Given the description of an element on the screen output the (x, y) to click on. 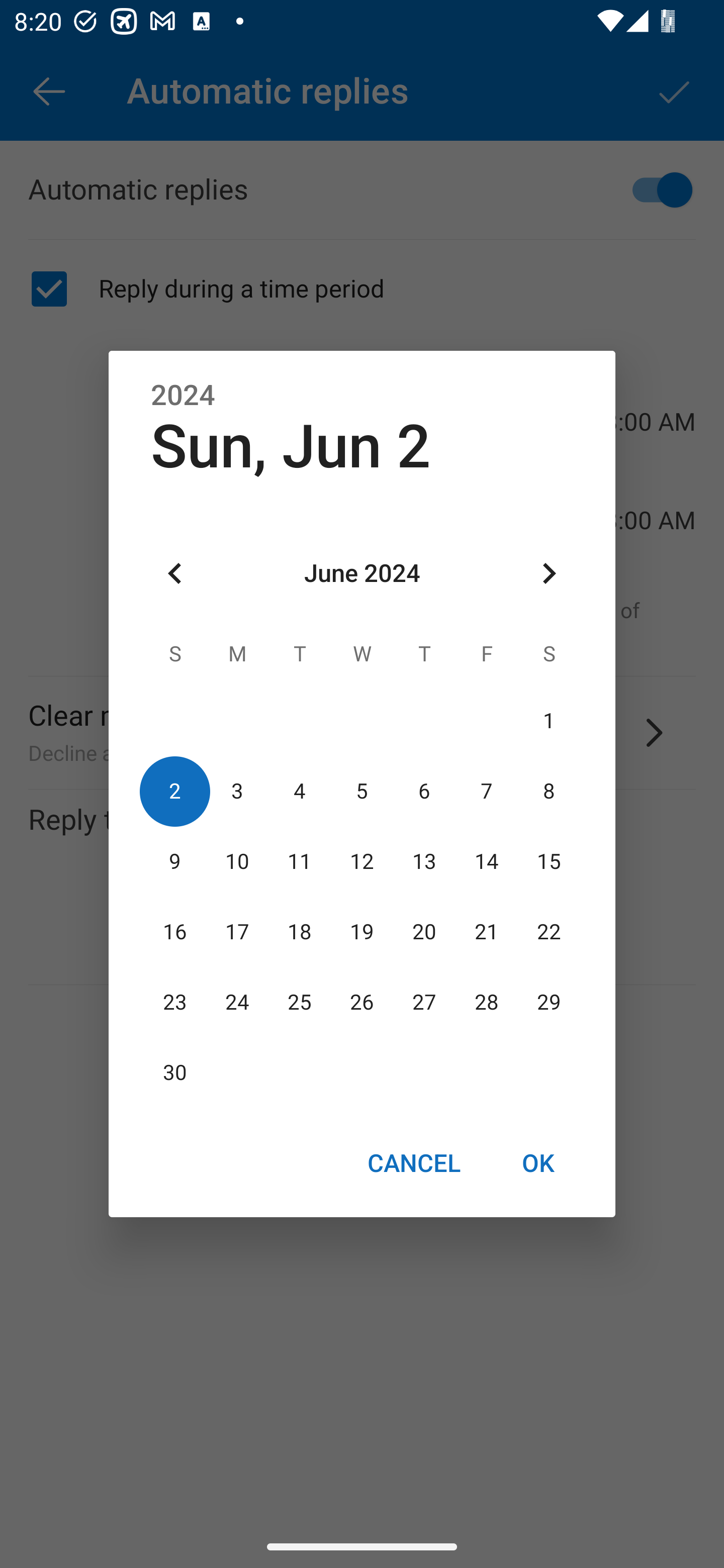
2024 (182, 395)
Sun, Jun 2 (290, 446)
Previous month (174, 573)
Next month (548, 573)
1 01 June 2024 (548, 720)
2 02 June 2024 (175, 790)
3 03 June 2024 (237, 790)
4 04 June 2024 (299, 790)
5 05 June 2024 (361, 790)
6 06 June 2024 (424, 790)
7 07 June 2024 (486, 790)
8 08 June 2024 (548, 790)
9 09 June 2024 (175, 861)
10 10 June 2024 (237, 861)
11 11 June 2024 (299, 861)
12 12 June 2024 (361, 861)
13 13 June 2024 (424, 861)
14 14 June 2024 (486, 861)
15 15 June 2024 (548, 861)
16 16 June 2024 (175, 931)
17 17 June 2024 (237, 931)
18 18 June 2024 (299, 931)
19 19 June 2024 (361, 931)
20 20 June 2024 (424, 931)
21 21 June 2024 (486, 931)
22 22 June 2024 (548, 931)
23 23 June 2024 (175, 1002)
24 24 June 2024 (237, 1002)
25 25 June 2024 (299, 1002)
26 26 June 2024 (361, 1002)
27 27 June 2024 (424, 1002)
28 28 June 2024 (486, 1002)
29 29 June 2024 (548, 1002)
30 30 June 2024 (175, 1073)
CANCEL (413, 1162)
OK (537, 1162)
